Given the description of an element on the screen output the (x, y) to click on. 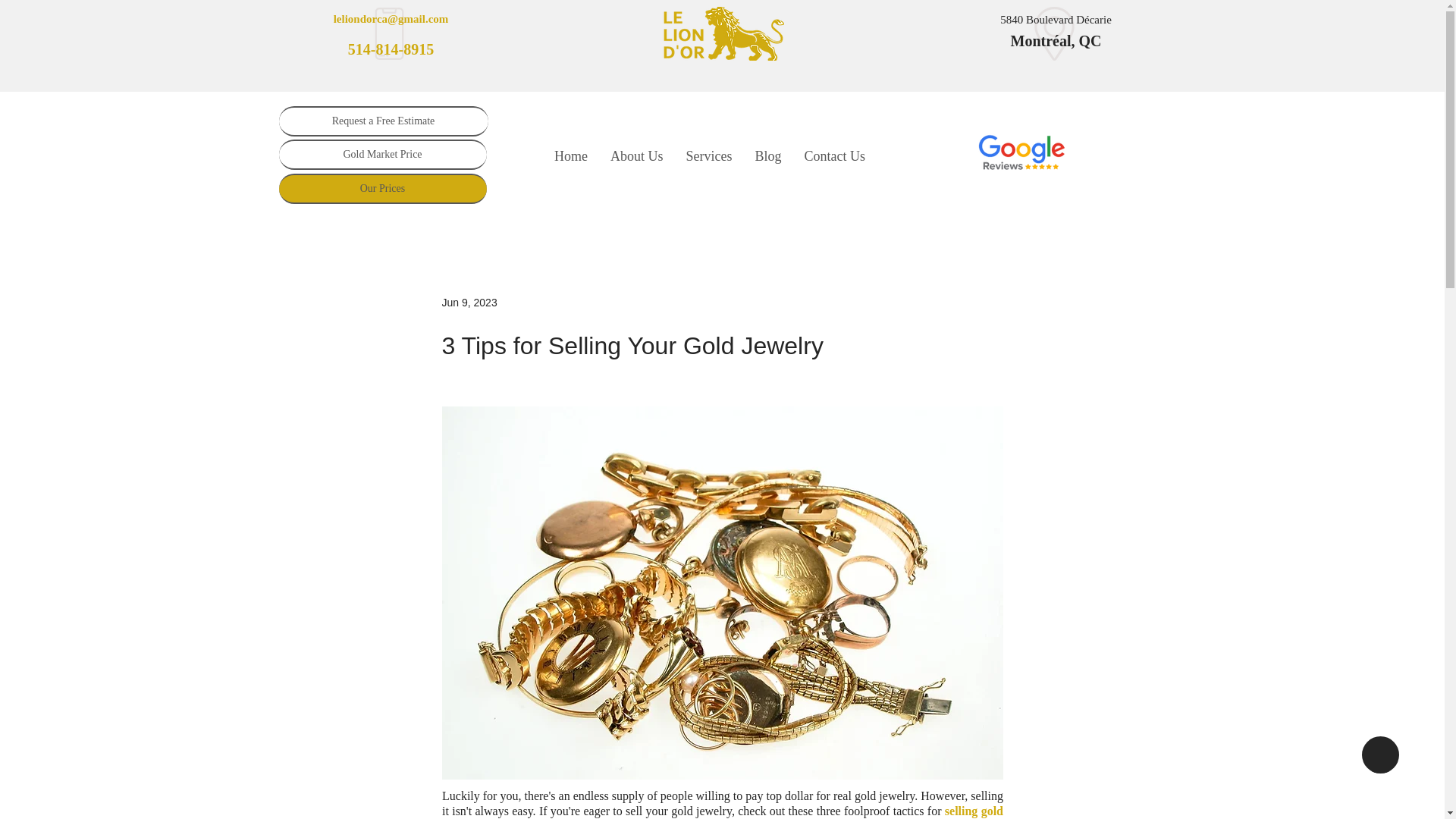
Jun 9, 2023 (468, 301)
Blog (767, 157)
514-814-8915 (390, 48)
Services (708, 157)
Contact Us (833, 157)
Gold Market Price (382, 154)
selling gold (973, 810)
Request a Free Estimate (383, 121)
Our Prices (382, 188)
About Us (636, 157)
